Given the description of an element on the screen output the (x, y) to click on. 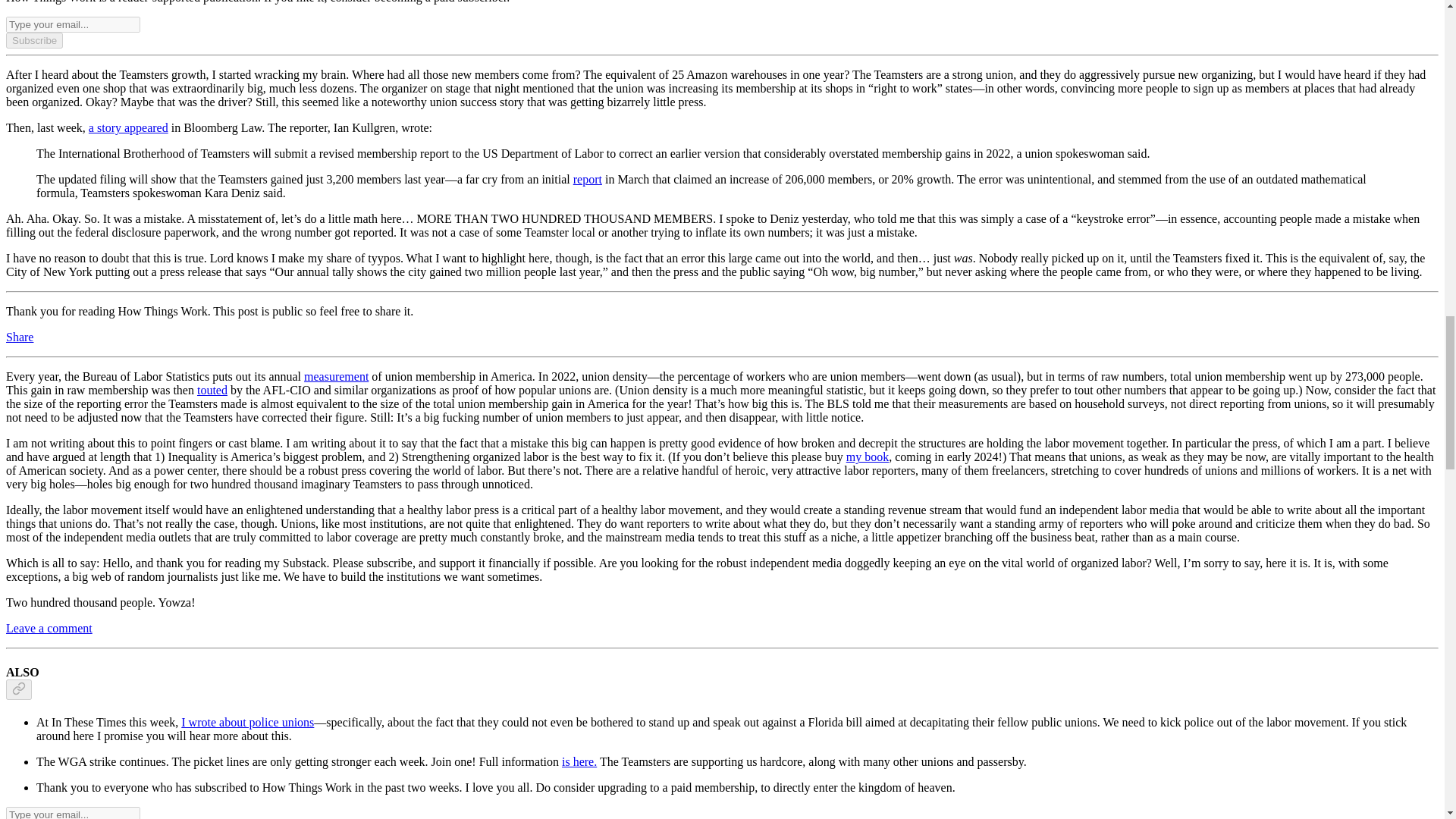
Leave a comment (49, 627)
measurement (336, 376)
I wrote about police unions (247, 721)
is here. (579, 761)
my book (866, 456)
a story appeared (128, 127)
report (587, 178)
Share (19, 336)
touted (211, 390)
Subscribe (33, 40)
